Given the description of an element on the screen output the (x, y) to click on. 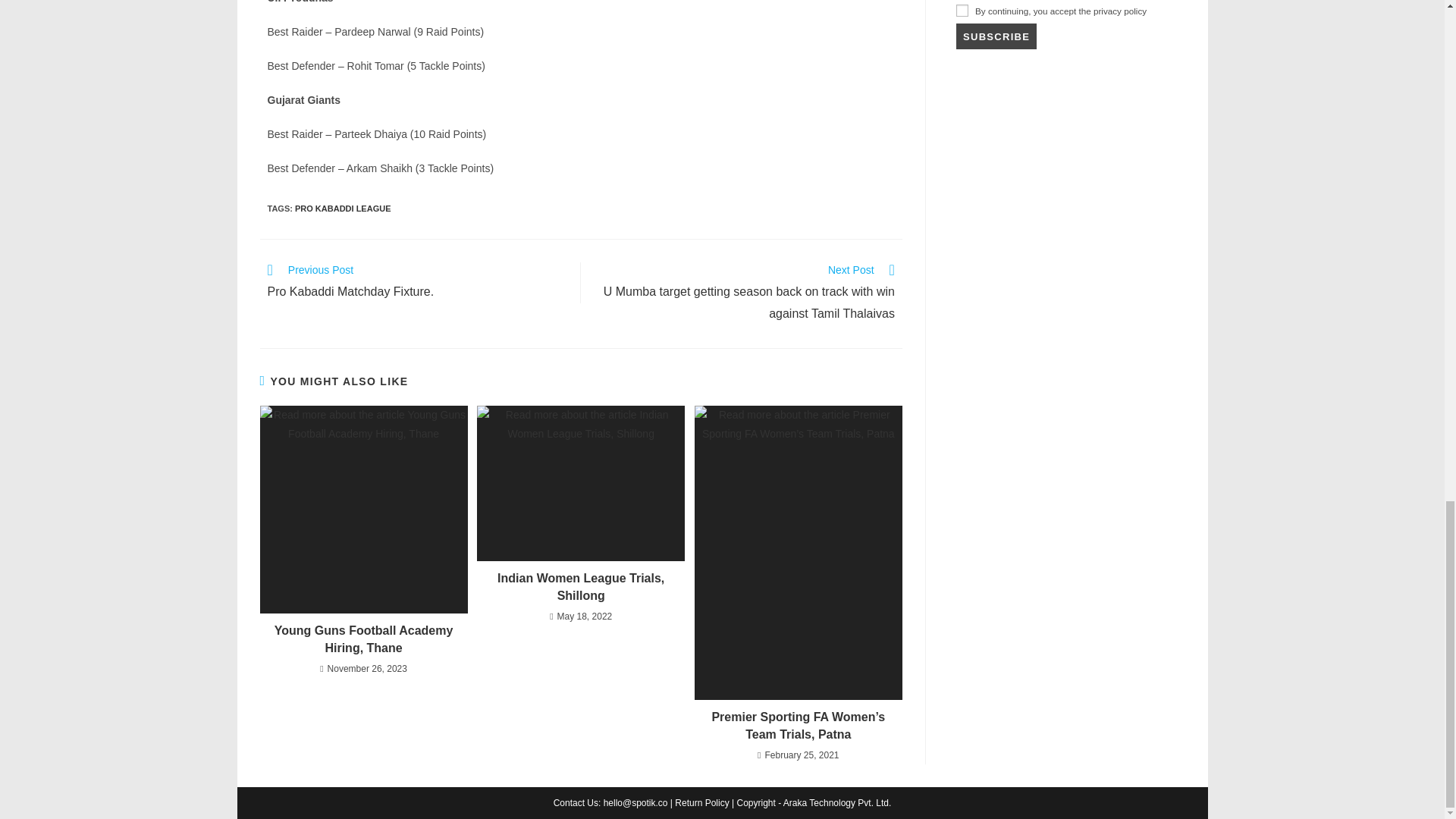
on (962, 10)
Young Guns Football Academy Hiring, Thane (362, 639)
Indian Women League Trials, Shillong (580, 587)
Subscribe (996, 35)
PRO KABADDI LEAGUE (343, 207)
